Given the description of an element on the screen output the (x, y) to click on. 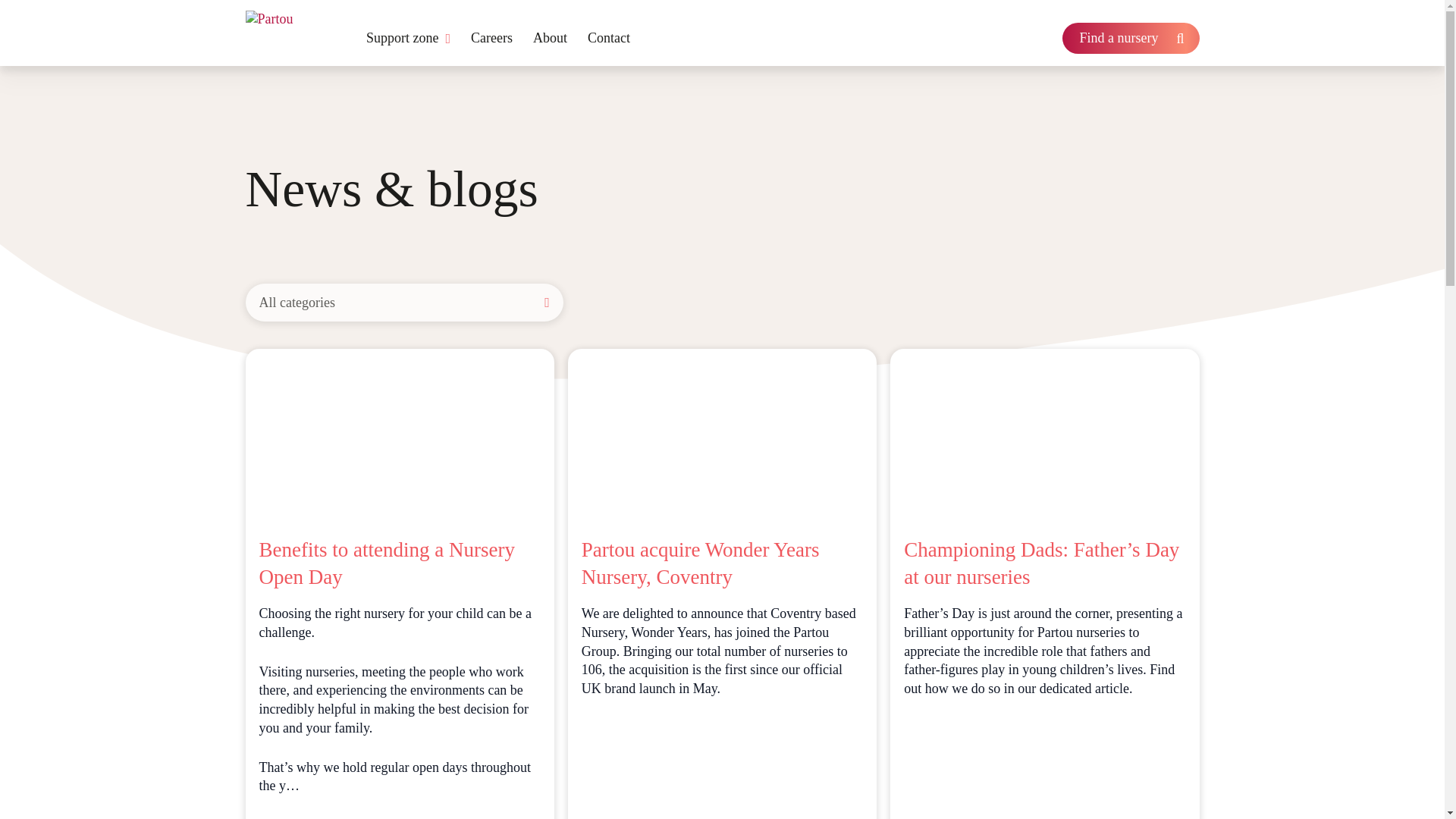
About (549, 37)
Support zone (407, 37)
Find a nursery (1130, 38)
Careers (491, 37)
Contact (609, 37)
